Given the description of an element on the screen output the (x, y) to click on. 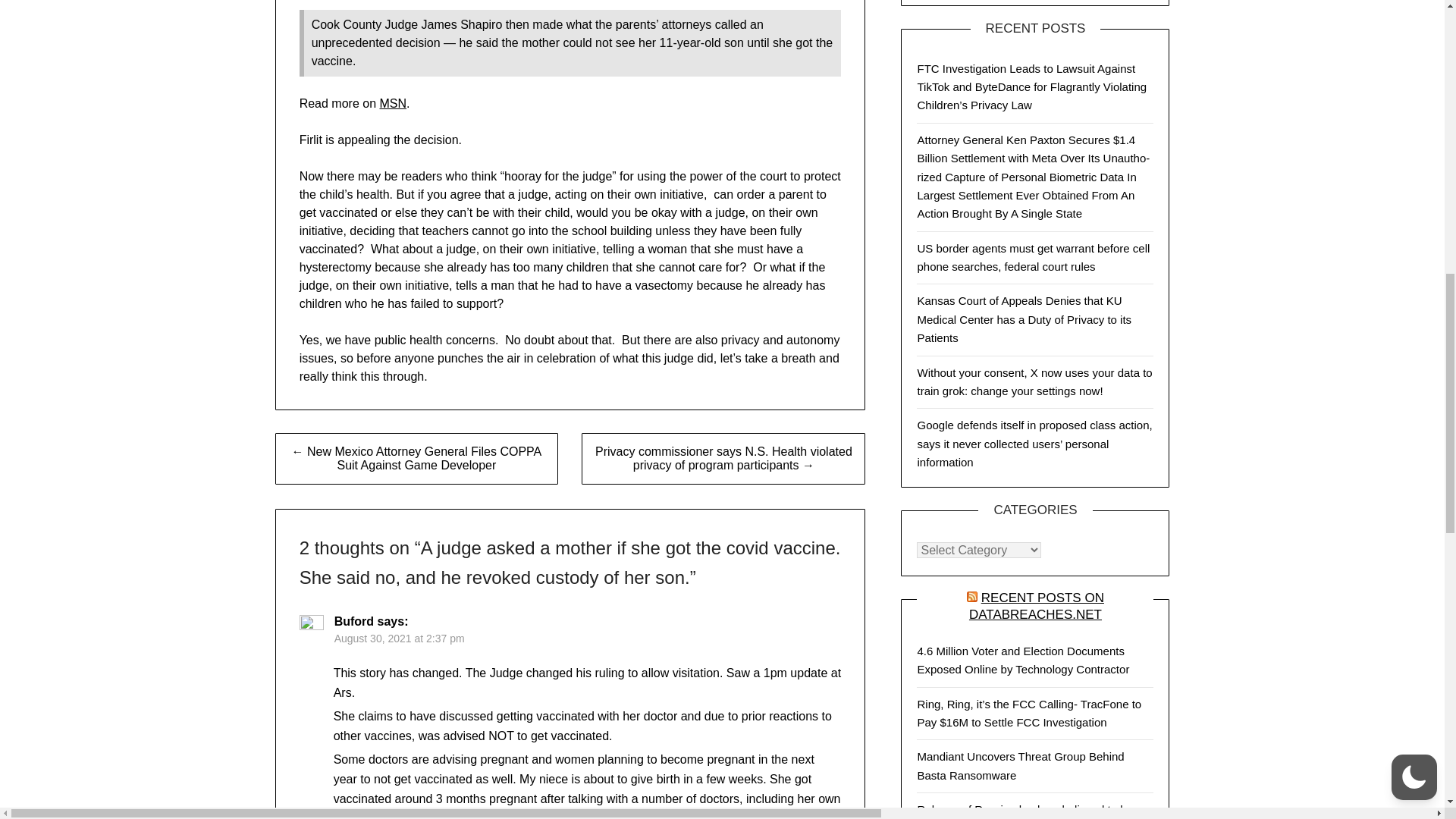
MSN (392, 103)
Mandiant Uncovers Threat Group Behind Basta Ransomware (1020, 765)
August 30, 2021 at 2:37 pm (399, 638)
RECENT POSTS ON DATABREACHES.NET (1036, 605)
